Given the description of an element on the screen output the (x, y) to click on. 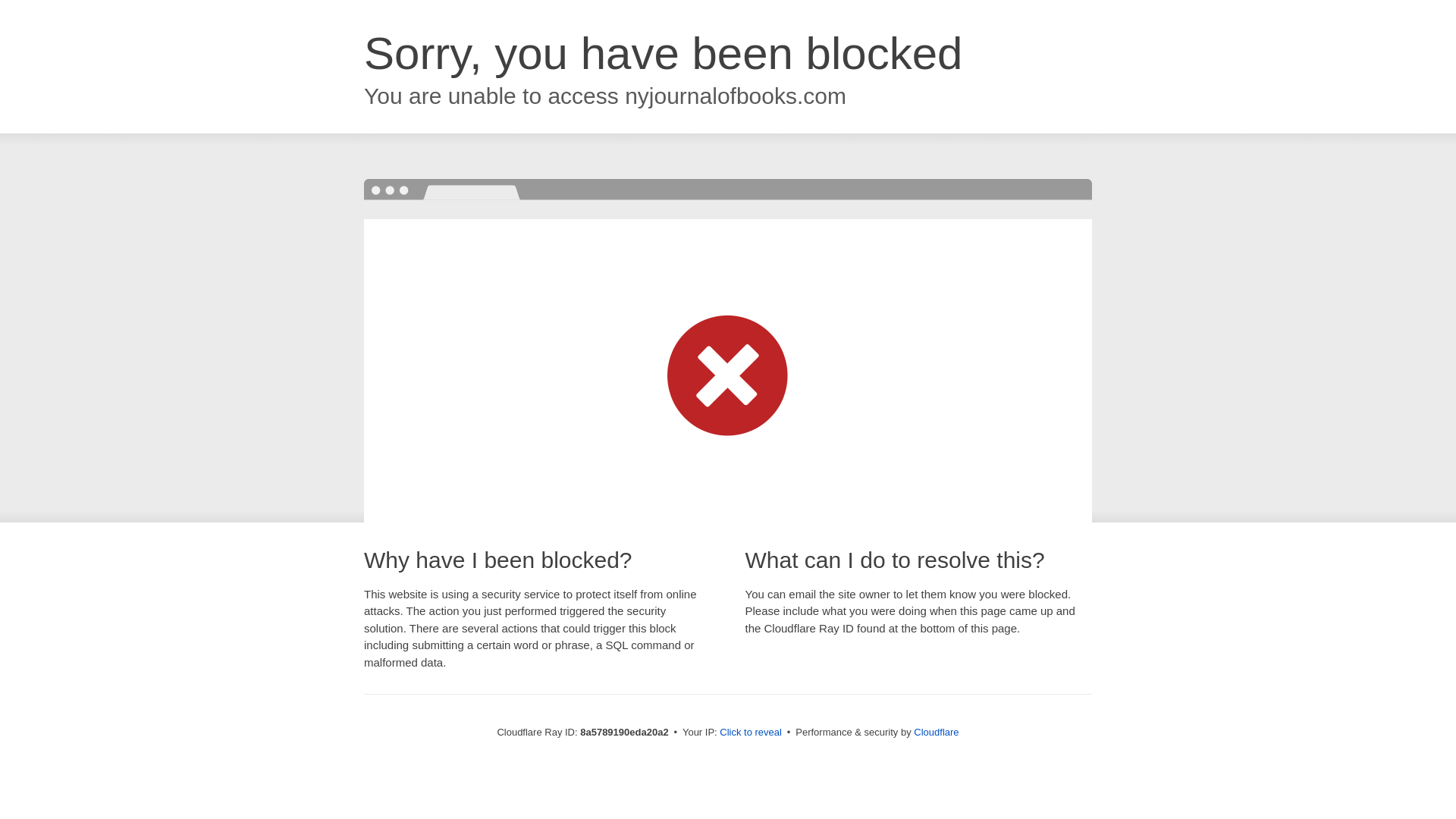
Click to reveal (750, 732)
Cloudflare (936, 731)
